Given the description of an element on the screen output the (x, y) to click on. 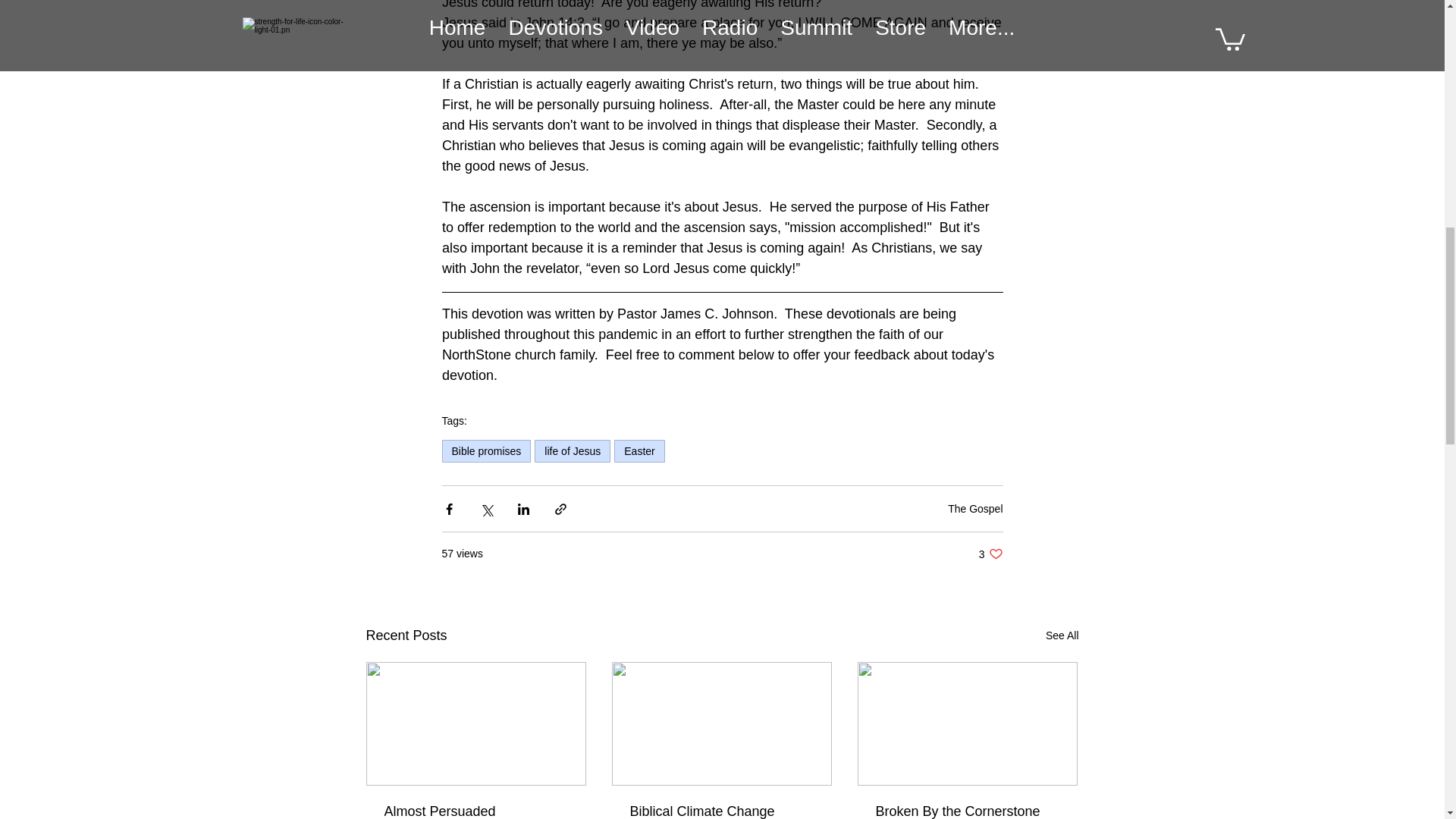
Bible promises (486, 450)
Almost Persuaded (475, 811)
The Gospel (975, 508)
Biblical Climate Change (720, 811)
life of Jesus (572, 450)
Easter (638, 450)
See All (990, 554)
